Given the description of an element on the screen output the (x, y) to click on. 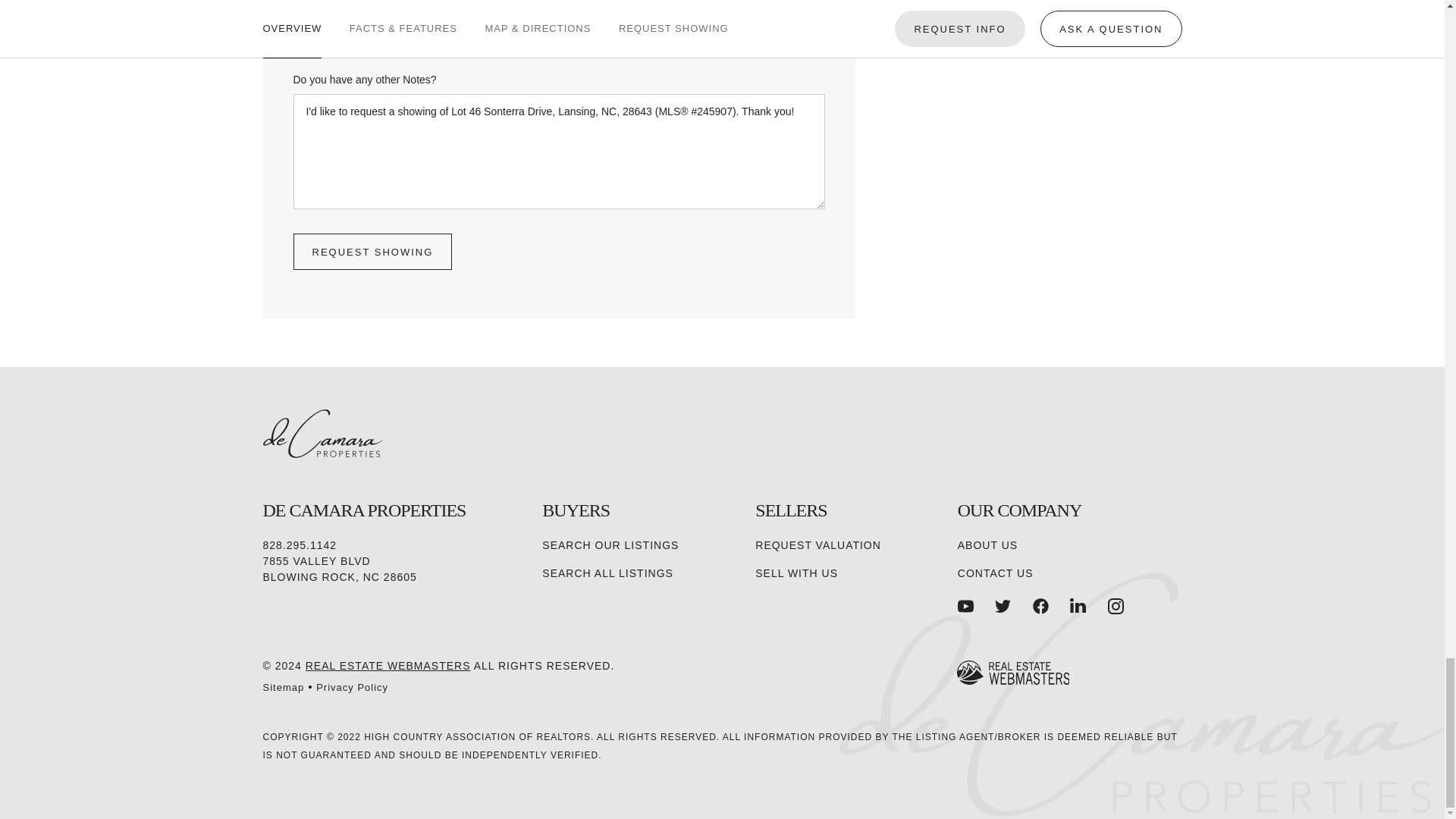
ASAP (352, 23)
REQUEST SHOWING (371, 251)
Next Week (627, 23)
LINKEDIN (1078, 606)
TWITTER (1002, 606)
FACEBOOK (1040, 606)
YOUTUBE (966, 606)
This Week (490, 23)
